Given the description of an element on the screen output the (x, y) to click on. 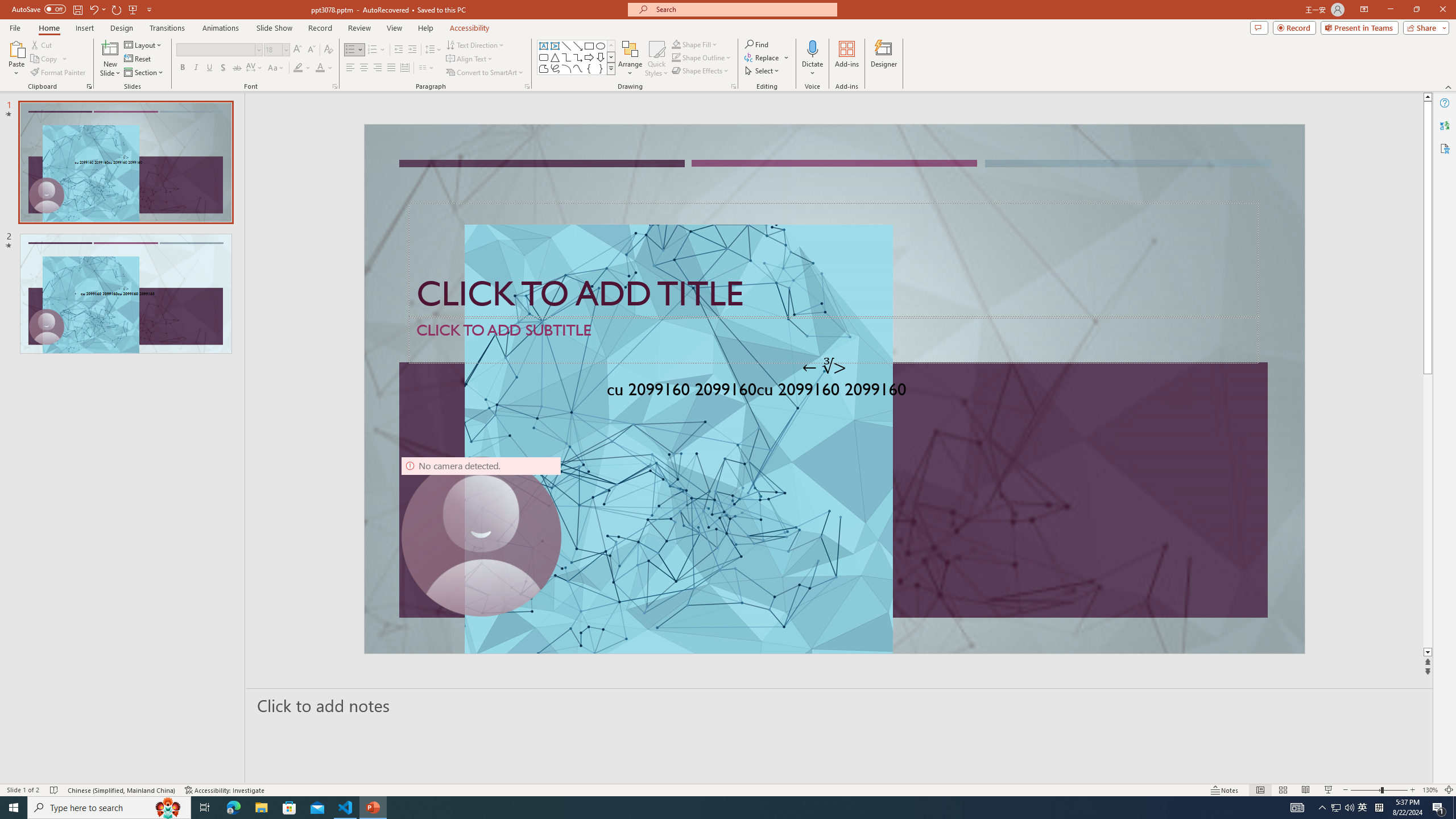
Zoom 130% (1430, 790)
